Given the description of an element on the screen output the (x, y) to click on. 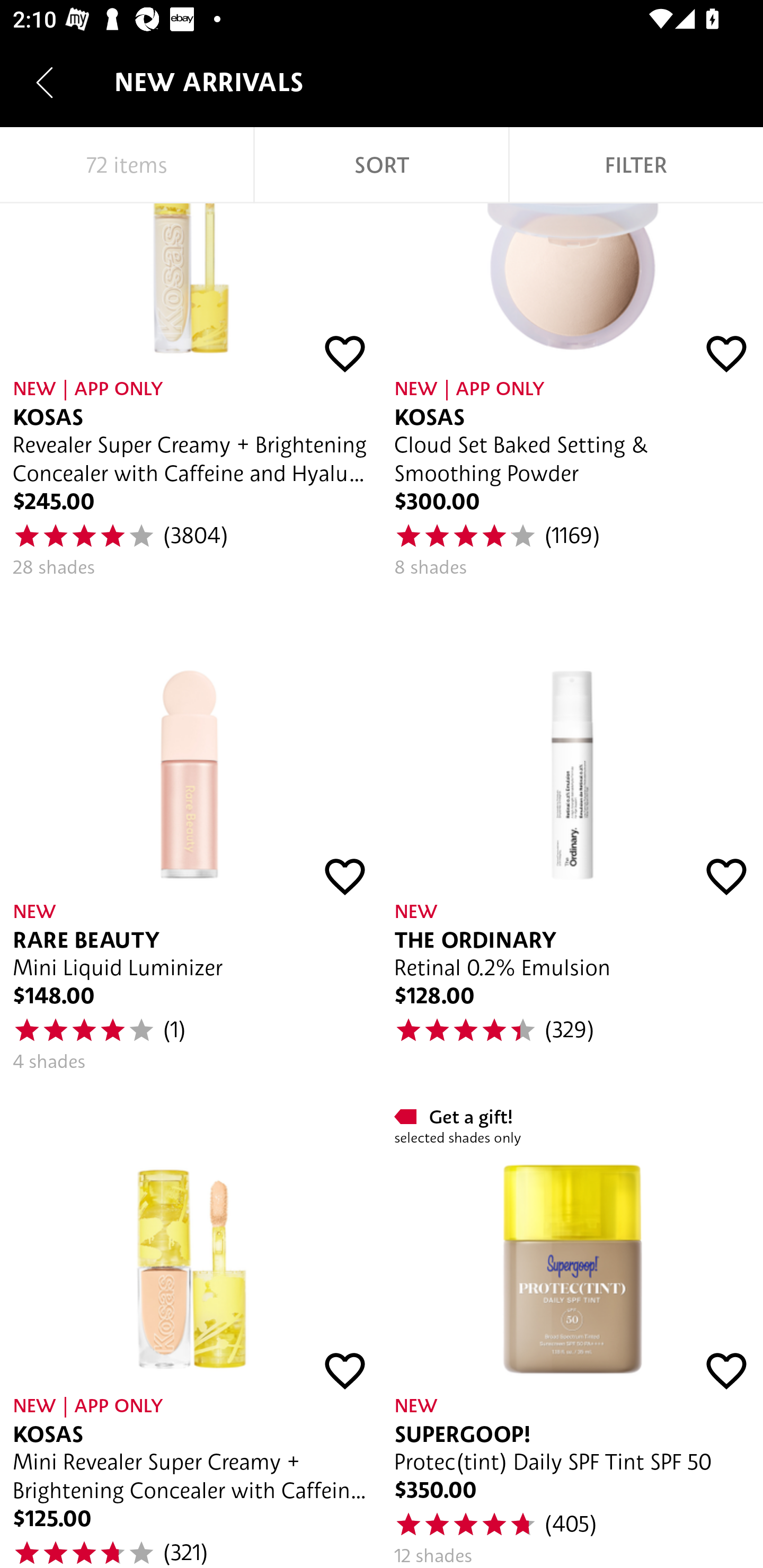
Navigate up (44, 82)
SORT (381, 165)
FILTER (636, 165)
